Given the description of an element on the screen output the (x, y) to click on. 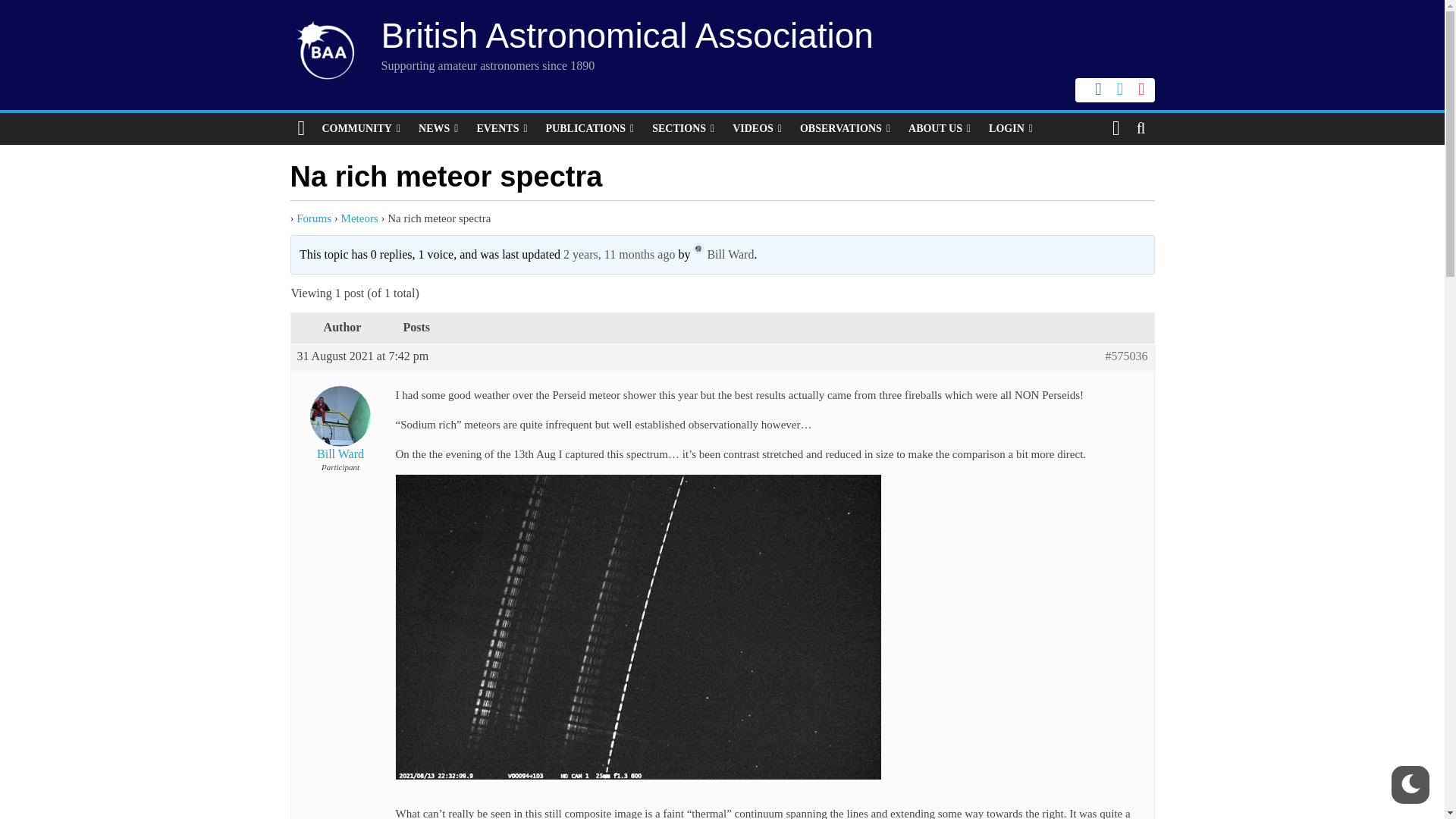
View Bill Ward's profile (340, 419)
COMMUNITY (361, 128)
PUBLICATIONS (590, 128)
Na rich meteor spectra (619, 254)
NEWS (438, 128)
SECTIONS (683, 128)
British Astronomical Association (626, 35)
View Bill Ward's profile (723, 254)
EVENTS (501, 128)
British Astronomical Association (626, 35)
